Given the description of an element on the screen output the (x, y) to click on. 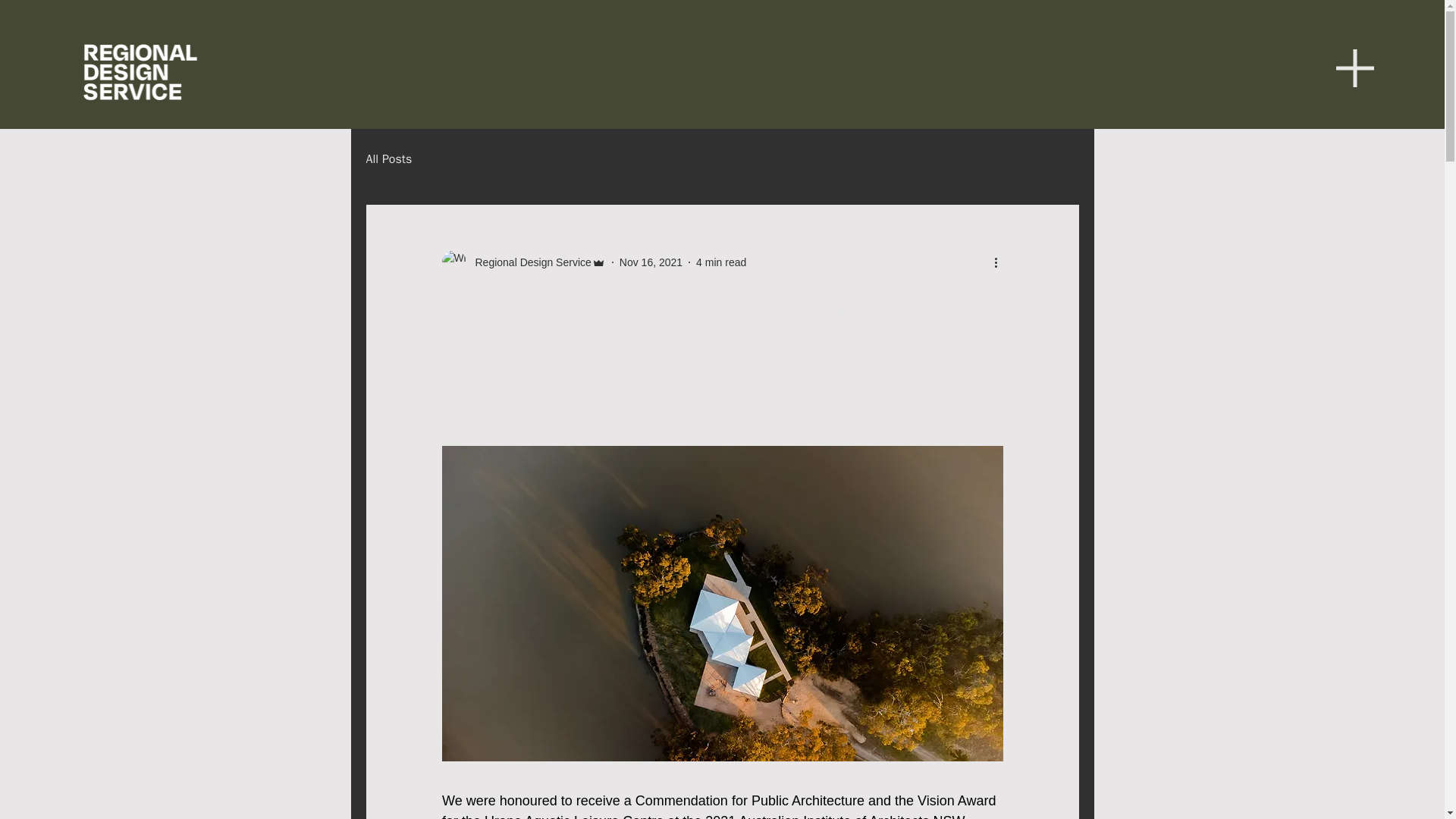
4 min read (720, 262)
All Posts (388, 159)
Regional Design Service (528, 262)
Nov 16, 2021 (651, 262)
